Given the description of an element on the screen output the (x, y) to click on. 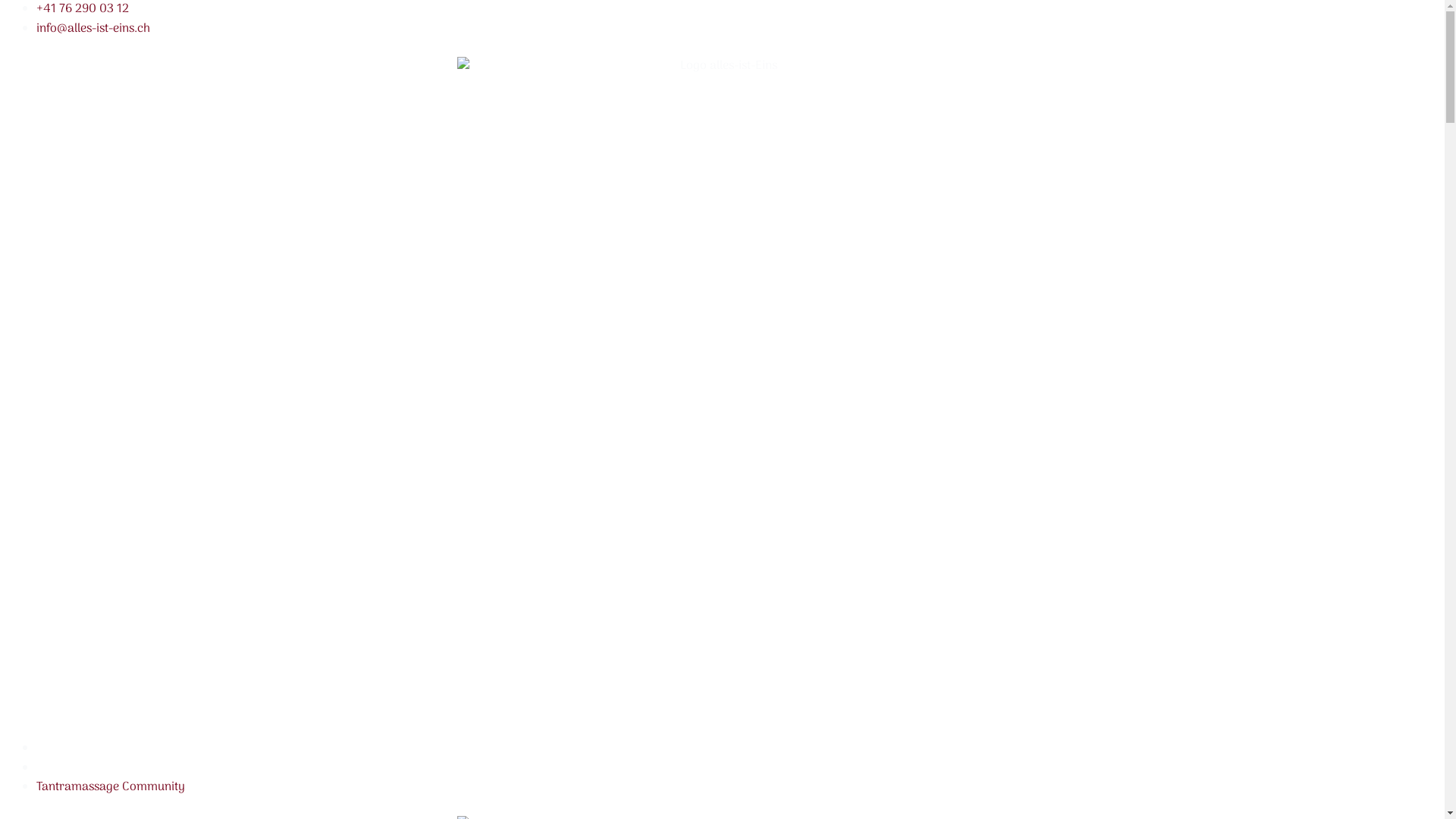
Tantramassage Community Element type: text (110, 787)
info@alles-ist-eins.ch Element type: text (93, 28)
